Given the description of an element on the screen output the (x, y) to click on. 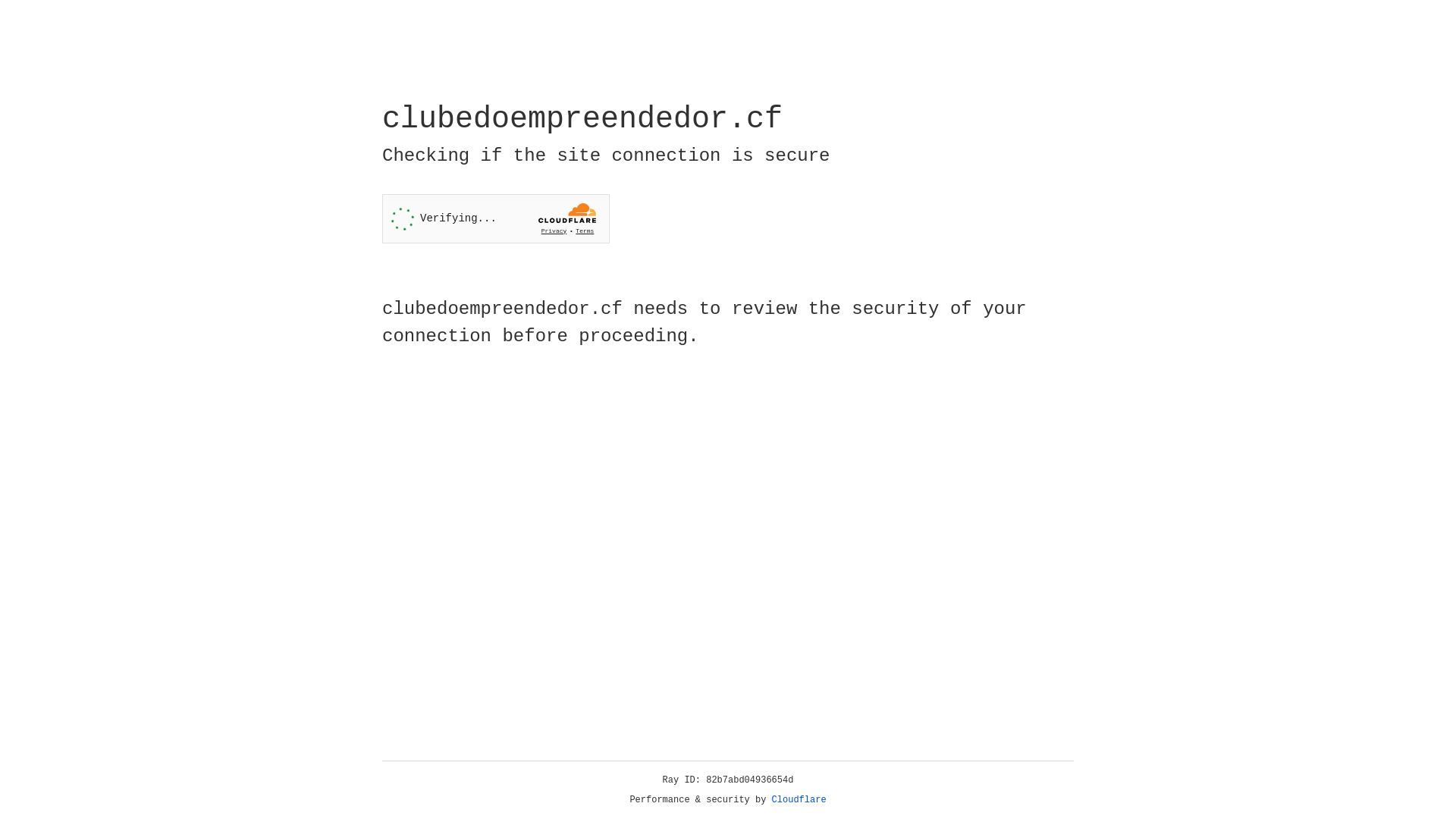
Widget containing a Cloudflare security challenge Element type: hover (495, 218)
Cloudflare Element type: text (798, 799)
